Given the description of an element on the screen output the (x, y) to click on. 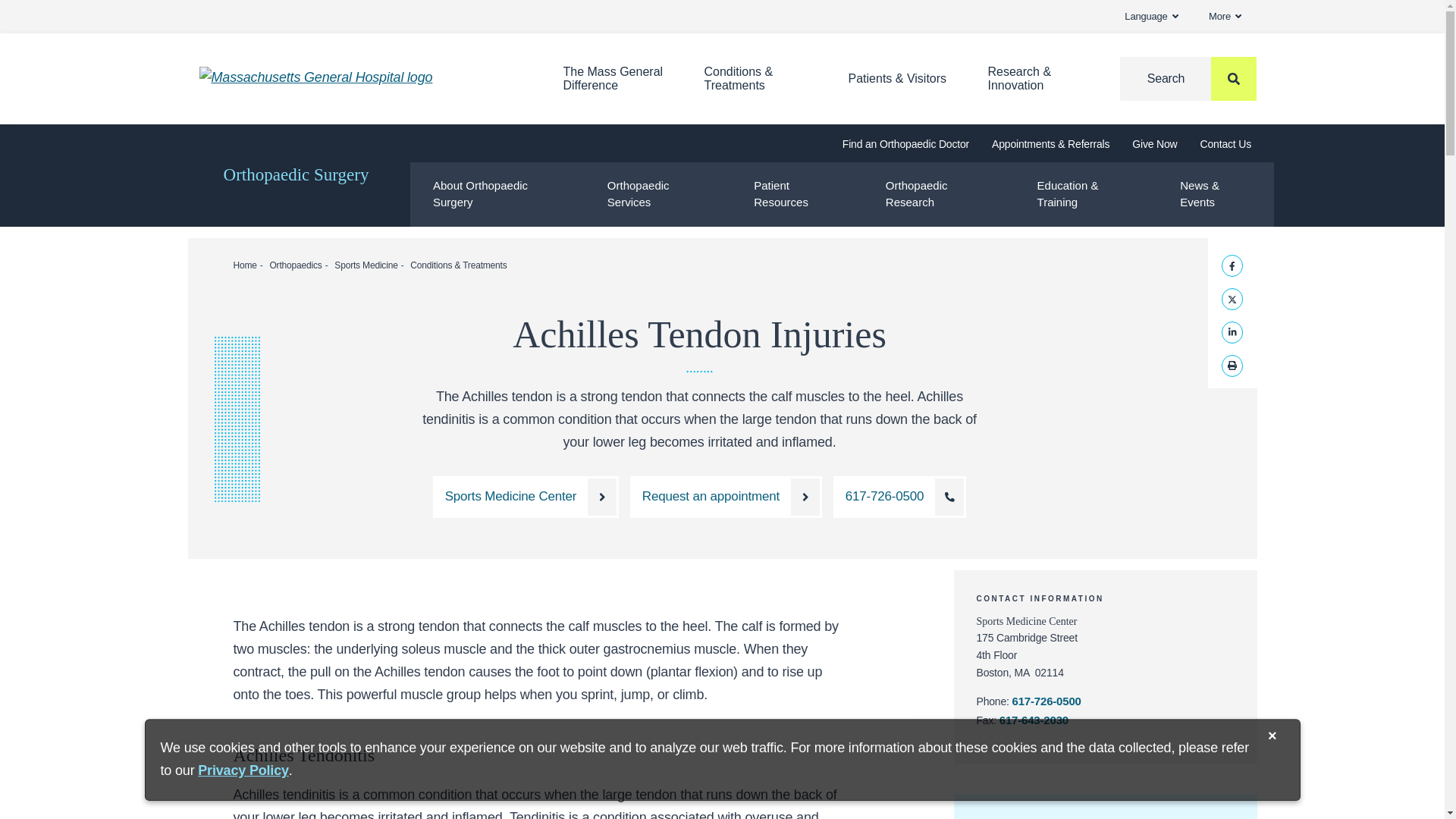
Orthopaedic Surgery (296, 175)
Language (1151, 16)
More (1224, 16)
Home (357, 77)
